Given the description of an element on the screen output the (x, y) to click on. 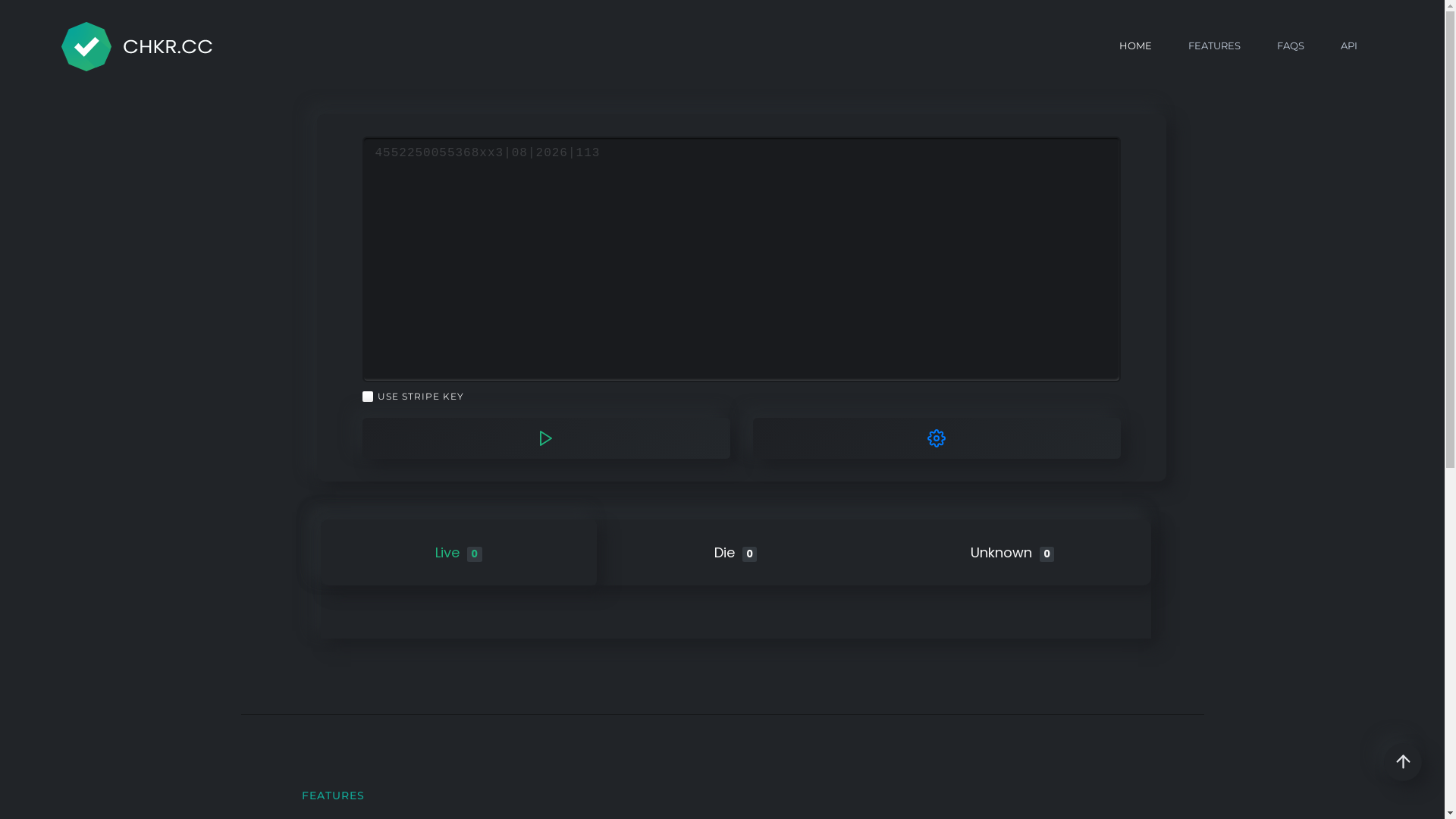
FEATURES Element type: text (1214, 45)
card Element type: hover (741, 259)
Unknown0 Element type: text (1012, 552)
FAQS Element type: text (1290, 45)
API Element type: text (1348, 45)
Die0 Element type: text (735, 552)
Live0 Element type: text (458, 552)
HOME Element type: text (1135, 45)
